Given the description of an element on the screen output the (x, y) to click on. 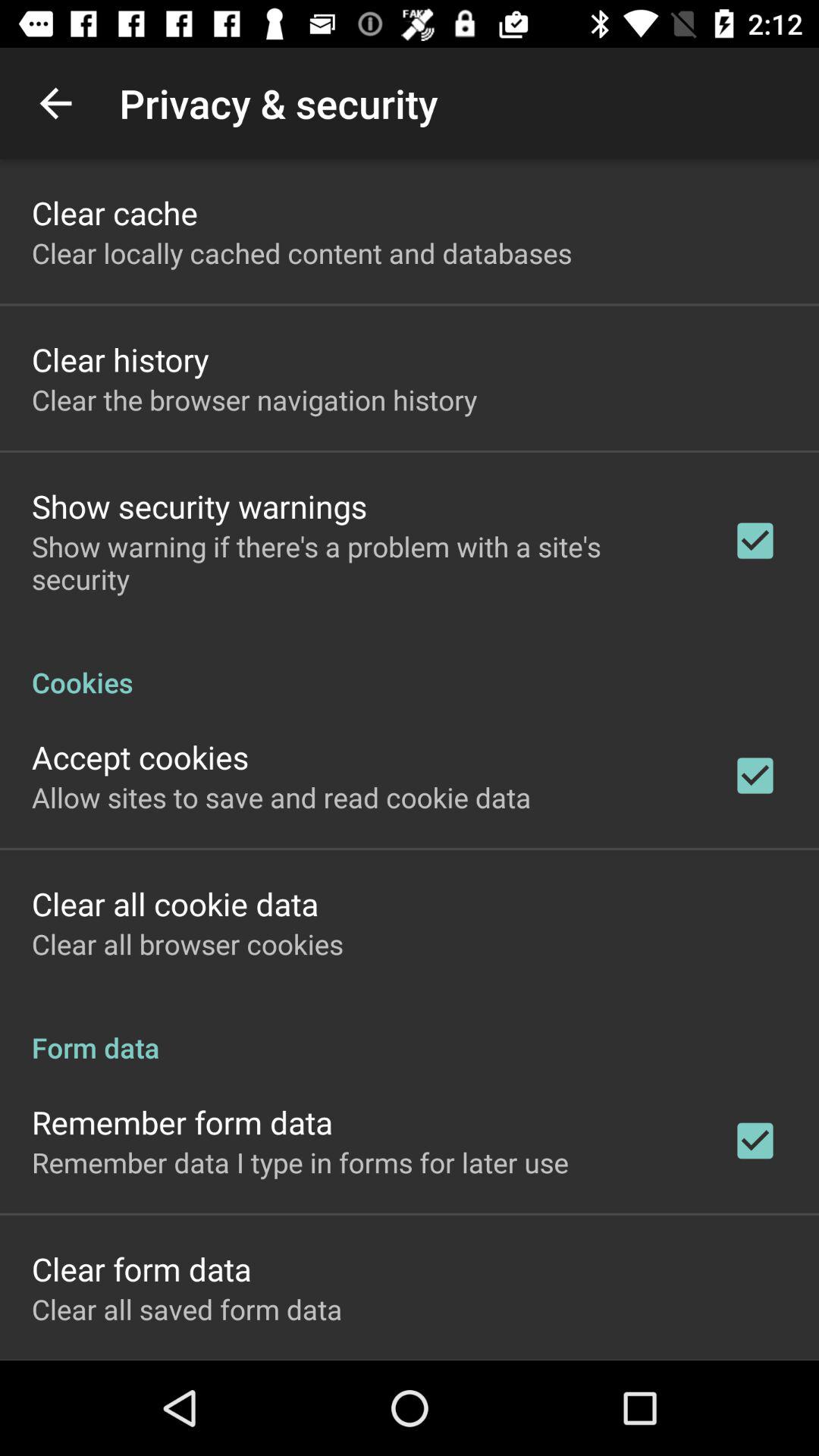
turn on the icon next to privacy & security icon (55, 103)
